Given the description of an element on the screen output the (x, y) to click on. 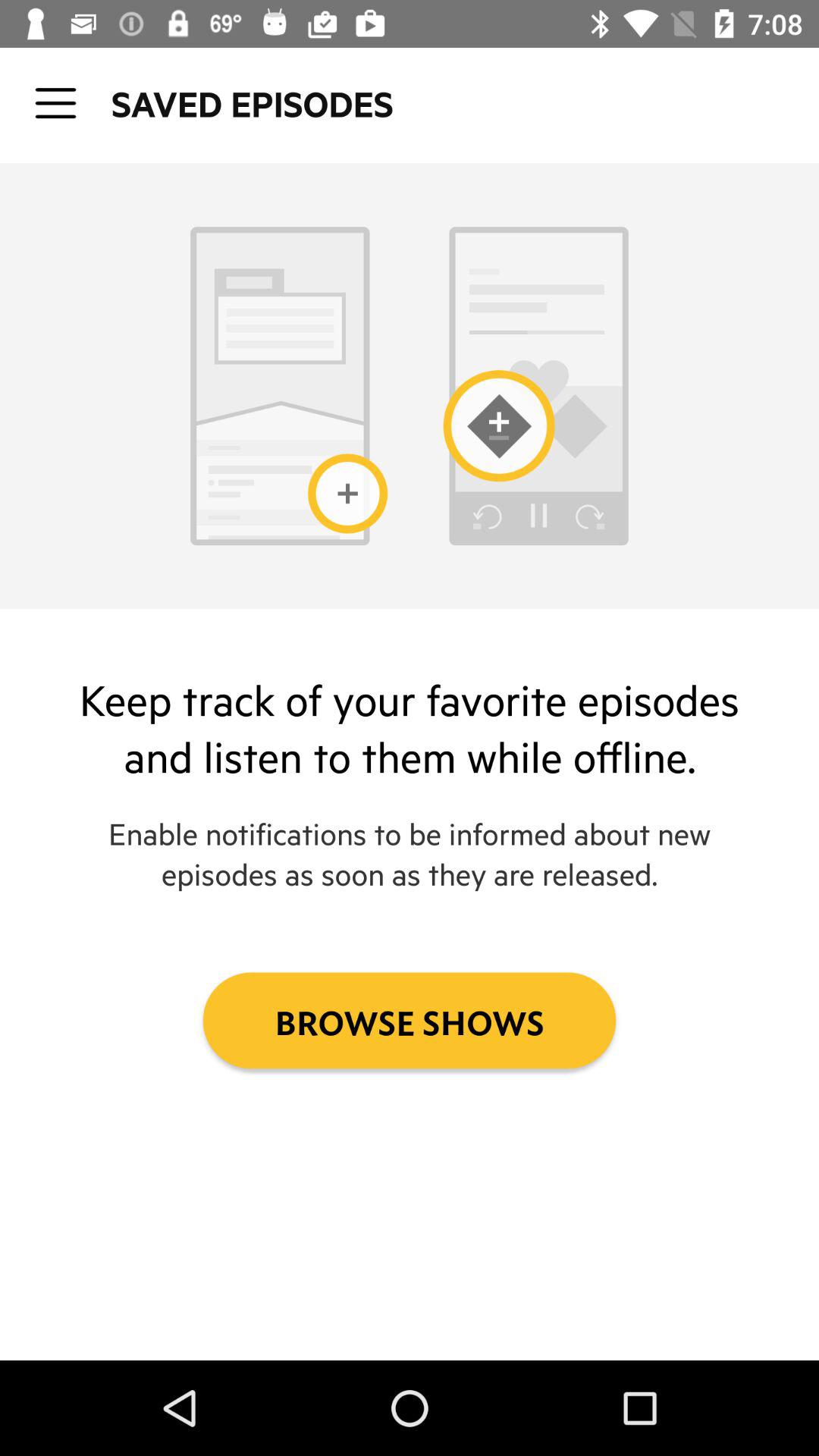
select browse shows icon (409, 1020)
